Given the description of an element on the screen output the (x, y) to click on. 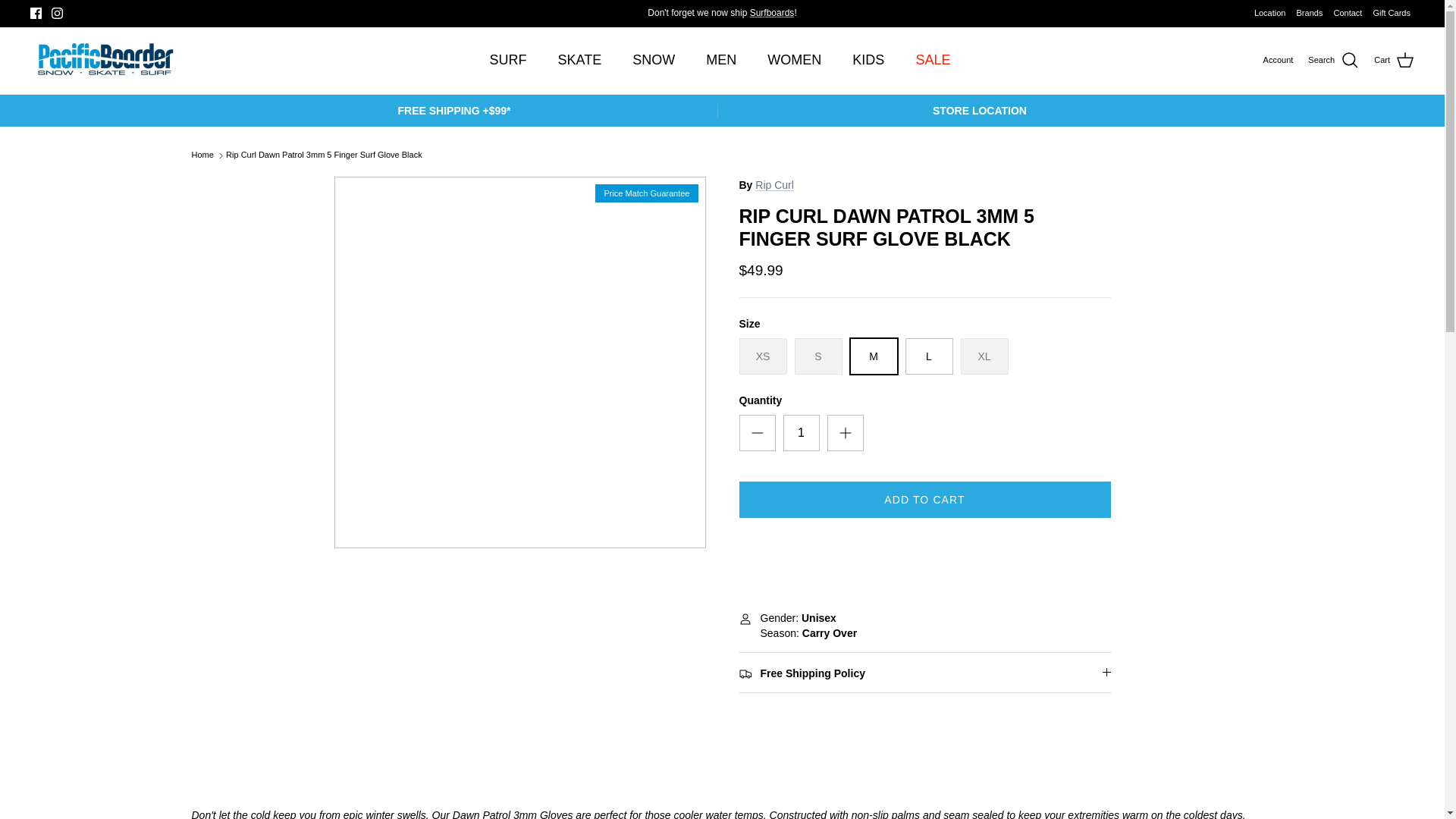
Instagram (56, 12)
Surfboards (771, 12)
Contact (1347, 13)
Brands (1310, 13)
MEN (721, 59)
Facebook (36, 12)
KIDS (868, 59)
Plus (844, 433)
Facebook (36, 12)
SNOW (653, 59)
